Given the description of an element on the screen output the (x, y) to click on. 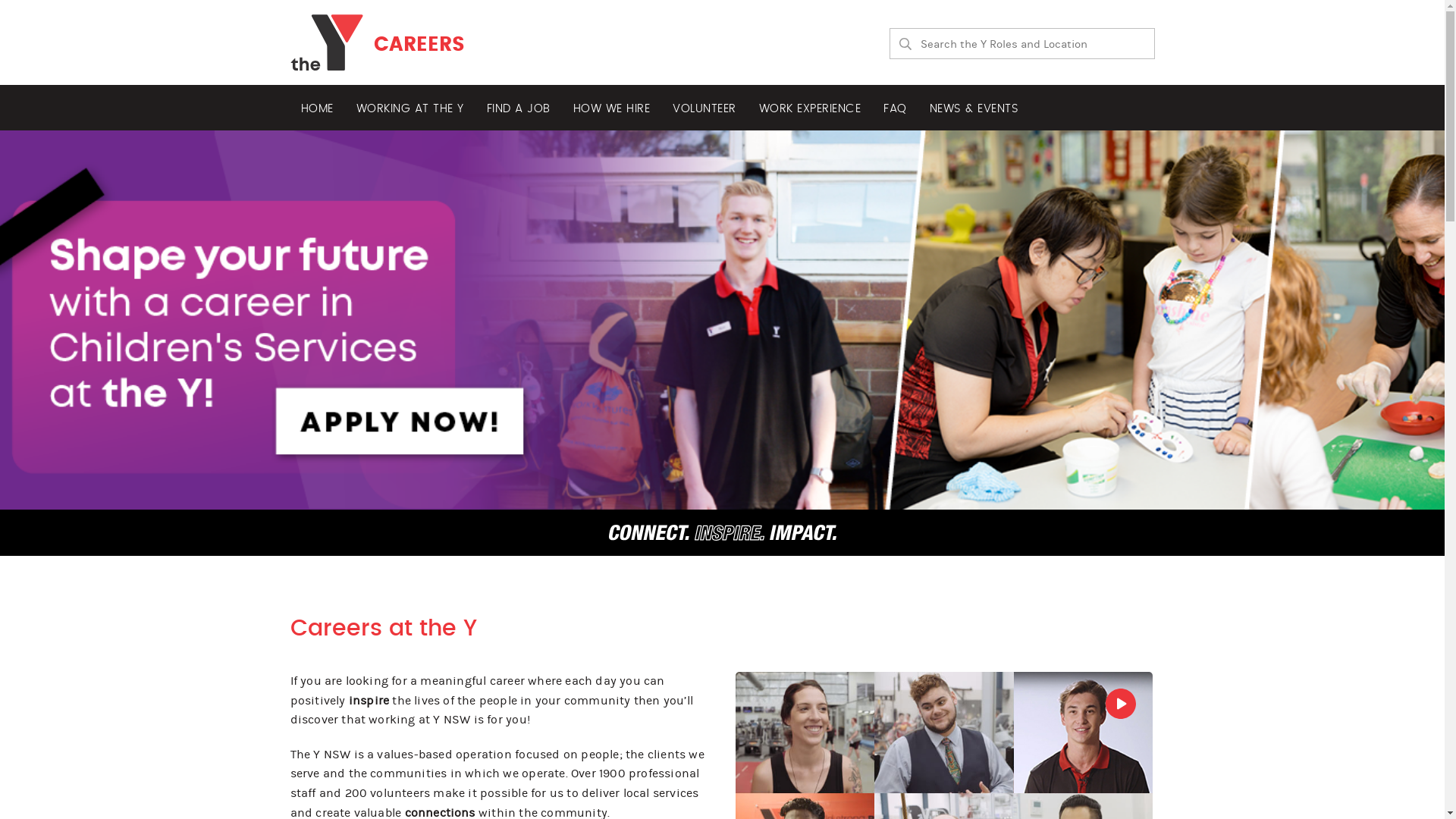
NEWS & EVENTS Element type: text (974, 107)
VOLUNTEER Element type: text (704, 107)
HOW WE HIRE Element type: text (611, 107)
FIND A JOB Element type: text (518, 107)
FAQ Element type: text (894, 107)
WORK EXPERIENCE Element type: text (809, 107)
CAREERS Element type: text (376, 41)
HOME Element type: text (316, 107)
WORKING AT THE Y Element type: text (409, 107)
